Given the description of an element on the screen output the (x, y) to click on. 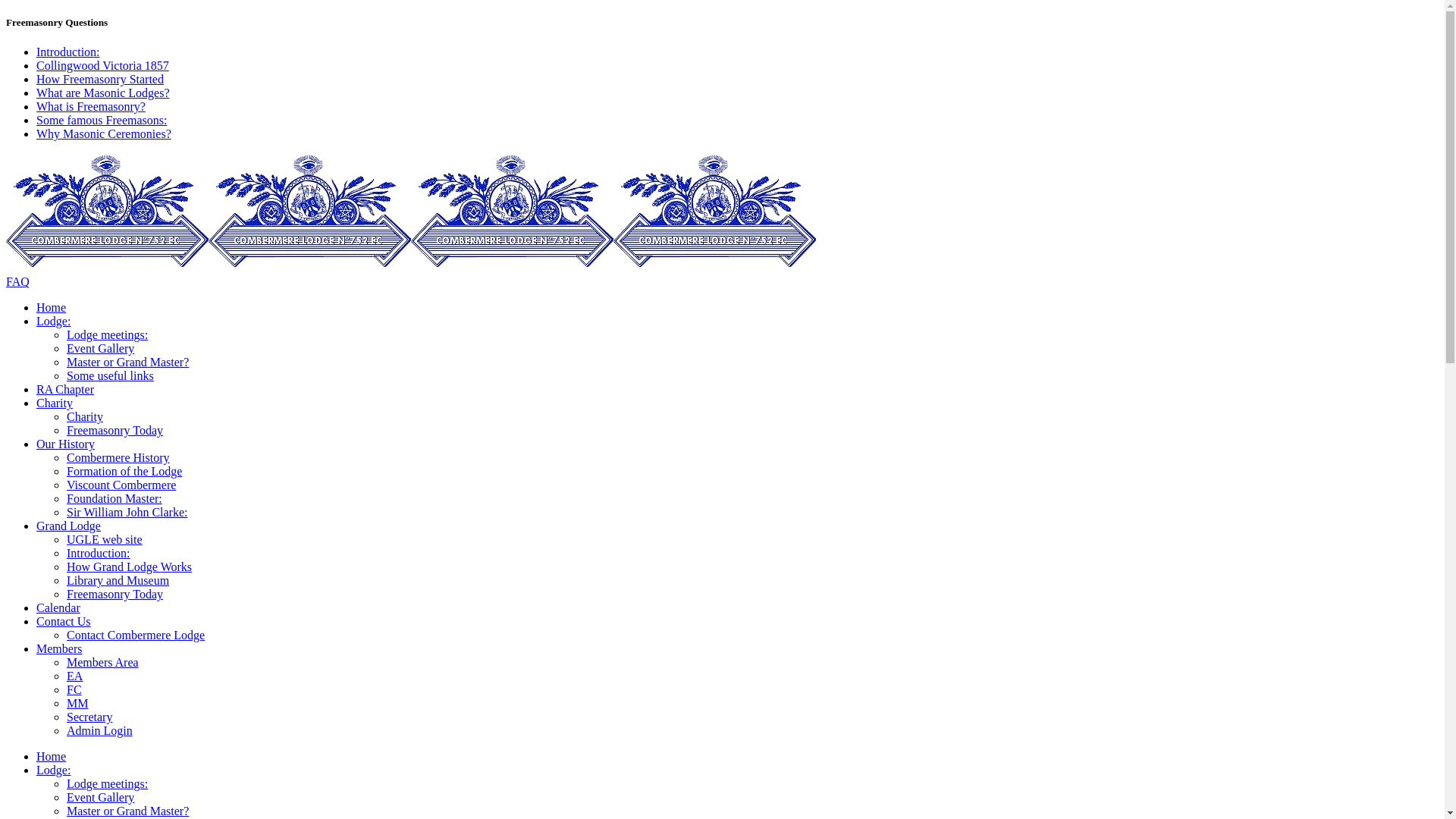
MM Element type: text (76, 702)
What is Freemasonry? Element type: text (90, 106)
Admin Login Element type: text (99, 730)
Lodge meetings: Element type: text (106, 783)
Lodge: Element type: text (53, 320)
Introduction: Element type: text (68, 51)
Lodge: Element type: text (53, 769)
UGLE web site Element type: text (104, 539)
FC Element type: text (73, 689)
Members Element type: text (58, 648)
Contact Combermere Lodge Element type: text (135, 634)
What are Masonic Lodges? Element type: text (102, 92)
Our History Element type: text (65, 443)
Introduction: Element type: text (98, 552)
Formation of the Lodge Element type: text (124, 470)
Charity Element type: text (54, 402)
Members Area Element type: text (102, 661)
RA Chapter Element type: text (65, 388)
Home Element type: text (50, 755)
Event Gallery Element type: text (100, 348)
How Grand Lodge Works Element type: text (128, 566)
Lodge meetings: Element type: text (106, 334)
How Freemasonry Started Element type: text (99, 78)
Home Element type: text (50, 307)
Contact Us Element type: text (63, 621)
Freemasonry Today Element type: text (114, 593)
Master or Grand Master? Element type: text (127, 361)
EA Element type: text (74, 675)
Library and Museum Element type: text (117, 580)
Event Gallery Element type: text (100, 796)
Charity Element type: text (84, 416)
Calendar Element type: text (58, 607)
Combermere History Element type: text (117, 457)
Some famous Freemasons: Element type: text (101, 119)
Why Masonic Ceremonies? Element type: text (103, 133)
Sir William John Clarke: Element type: text (127, 511)
Viscount Combermere Element type: text (120, 484)
Master or Grand Master? Element type: text (127, 810)
Some useful links Element type: text (109, 375)
Secretary Element type: text (89, 716)
Collingwood Victoria 1857 Element type: text (102, 65)
Freemasonry Today Element type: text (114, 429)
Foundation Master: Element type: text (114, 498)
Grand Lodge Element type: text (68, 525)
FAQ Element type: text (722, 281)
